Given the description of an element on the screen output the (x, y) to click on. 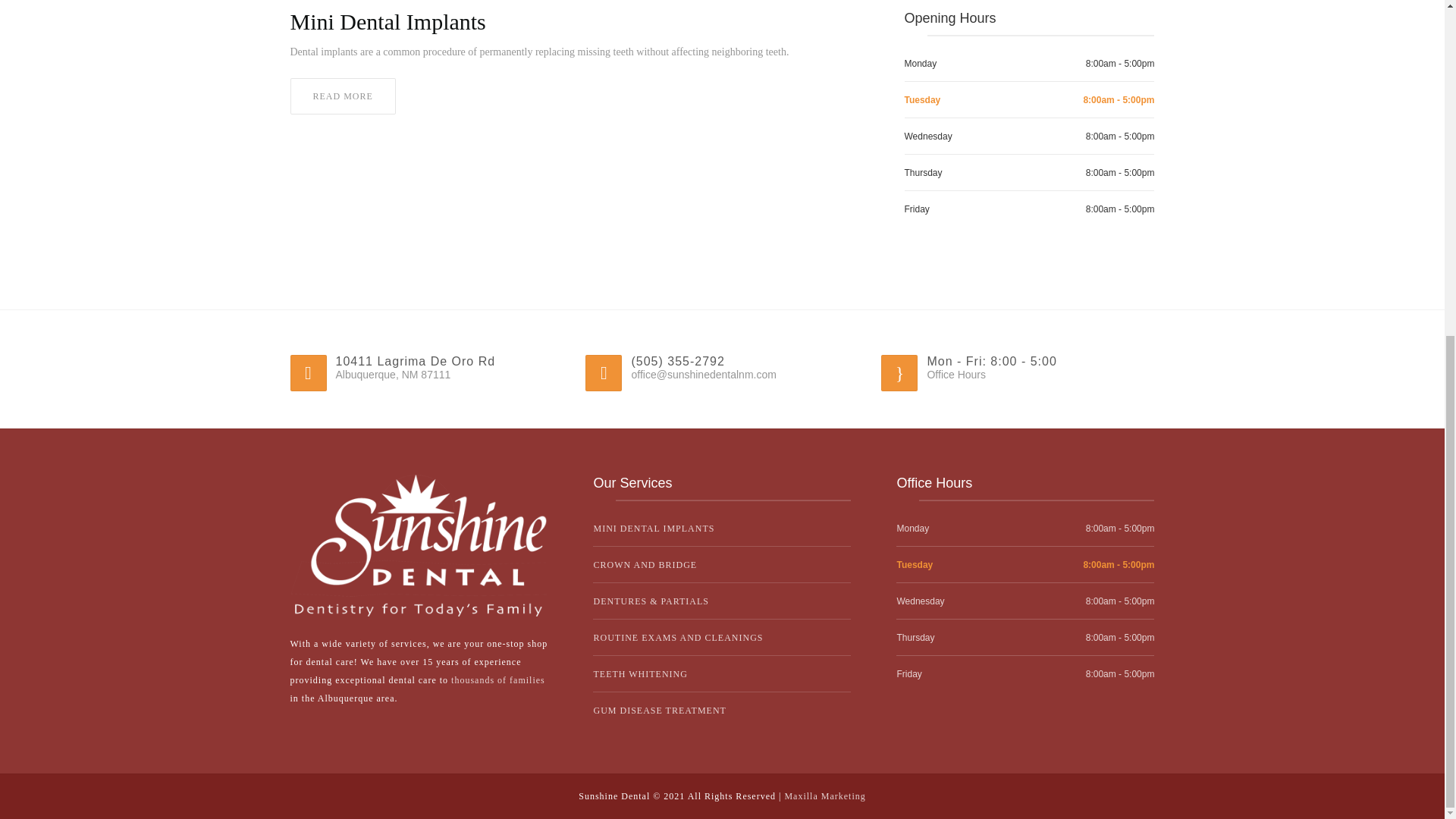
Mini Dental Implants (574, 22)
Mini Dental Implants (341, 95)
